Given the description of an element on the screen output the (x, y) to click on. 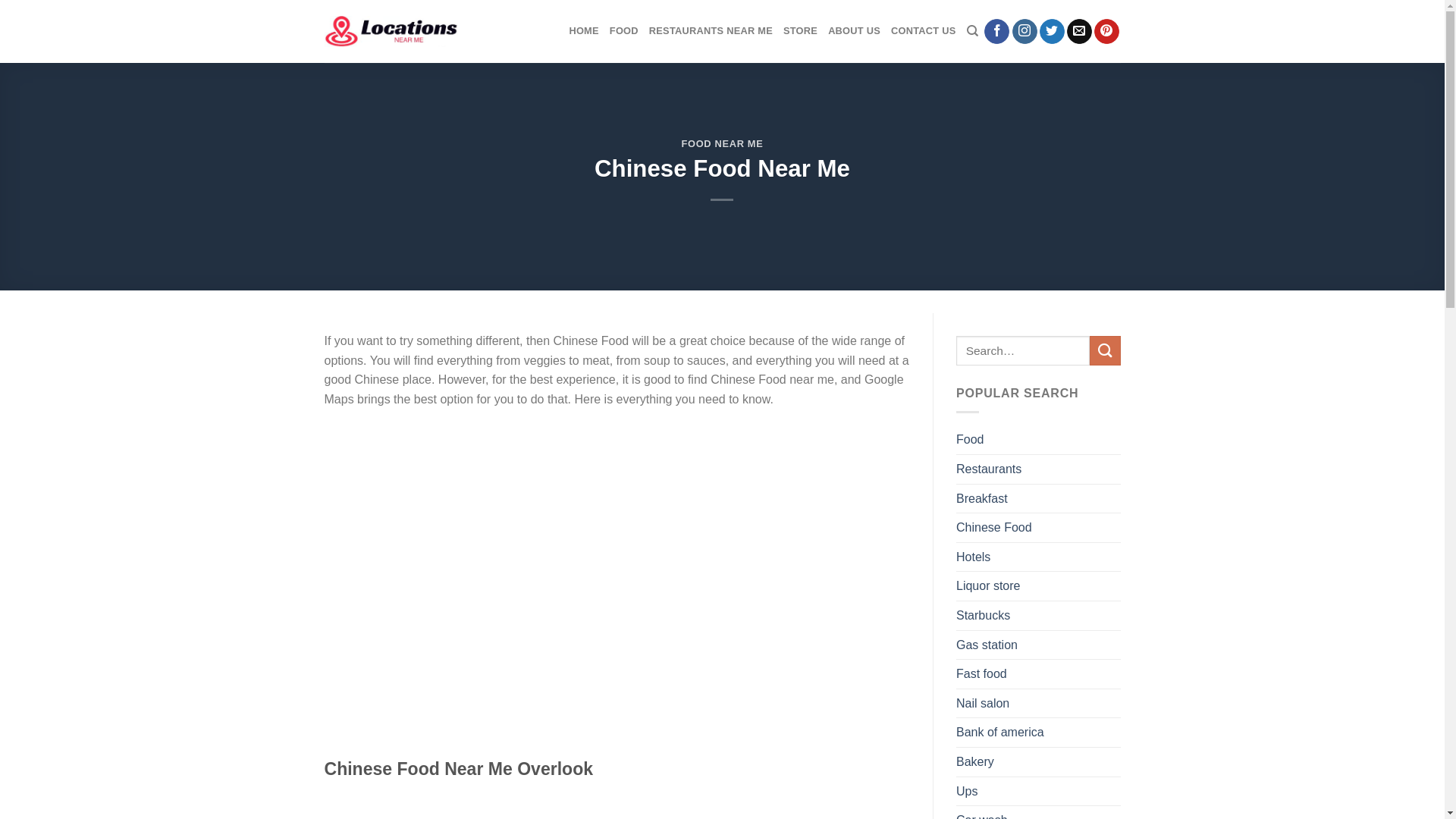
Bakery Element type: text (975, 761)
Ups Element type: text (966, 790)
Gas station Element type: text (986, 644)
FOOD NEAR ME Element type: text (722, 143)
Hotels Element type: text (973, 556)
Li Near Me Element type: hover (391, 31)
Food Element type: text (969, 439)
STORE Element type: text (800, 30)
Nail salon Element type: text (982, 703)
Liquor store Element type: text (988, 585)
CONTACT US Element type: text (923, 30)
HOME Element type: text (583, 30)
Bank of america Element type: text (1000, 732)
RESTAURANTS NEAR ME Element type: text (710, 30)
Breakfast Element type: text (981, 498)
Starbucks Element type: text (983, 615)
Fast food Element type: text (981, 673)
Chinese Food Element type: text (994, 527)
FOOD Element type: text (623, 30)
ABOUT US Element type: text (854, 30)
Restaurants Element type: text (988, 469)
